Given the description of an element on the screen output the (x, y) to click on. 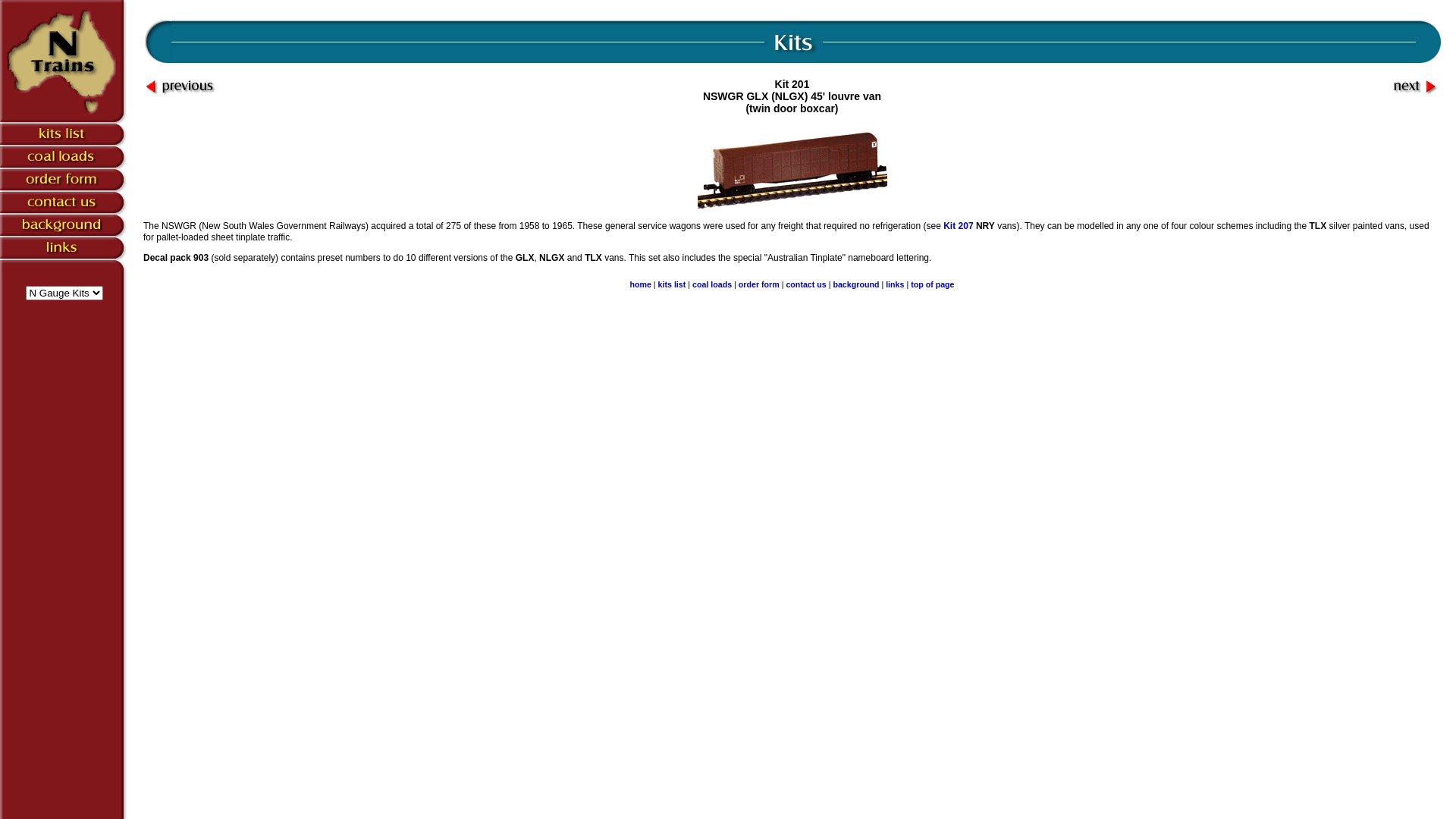
order form Element type: text (758, 283)
coal loads Element type: text (711, 283)
top of page Element type: text (931, 283)
home Element type: text (639, 283)
contact us Element type: text (805, 283)
kits list Element type: text (672, 283)
Kit 207 Element type: text (957, 225)
links Element type: text (894, 283)
background Element type: text (855, 283)
